Given the description of an element on the screen output the (x, y) to click on. 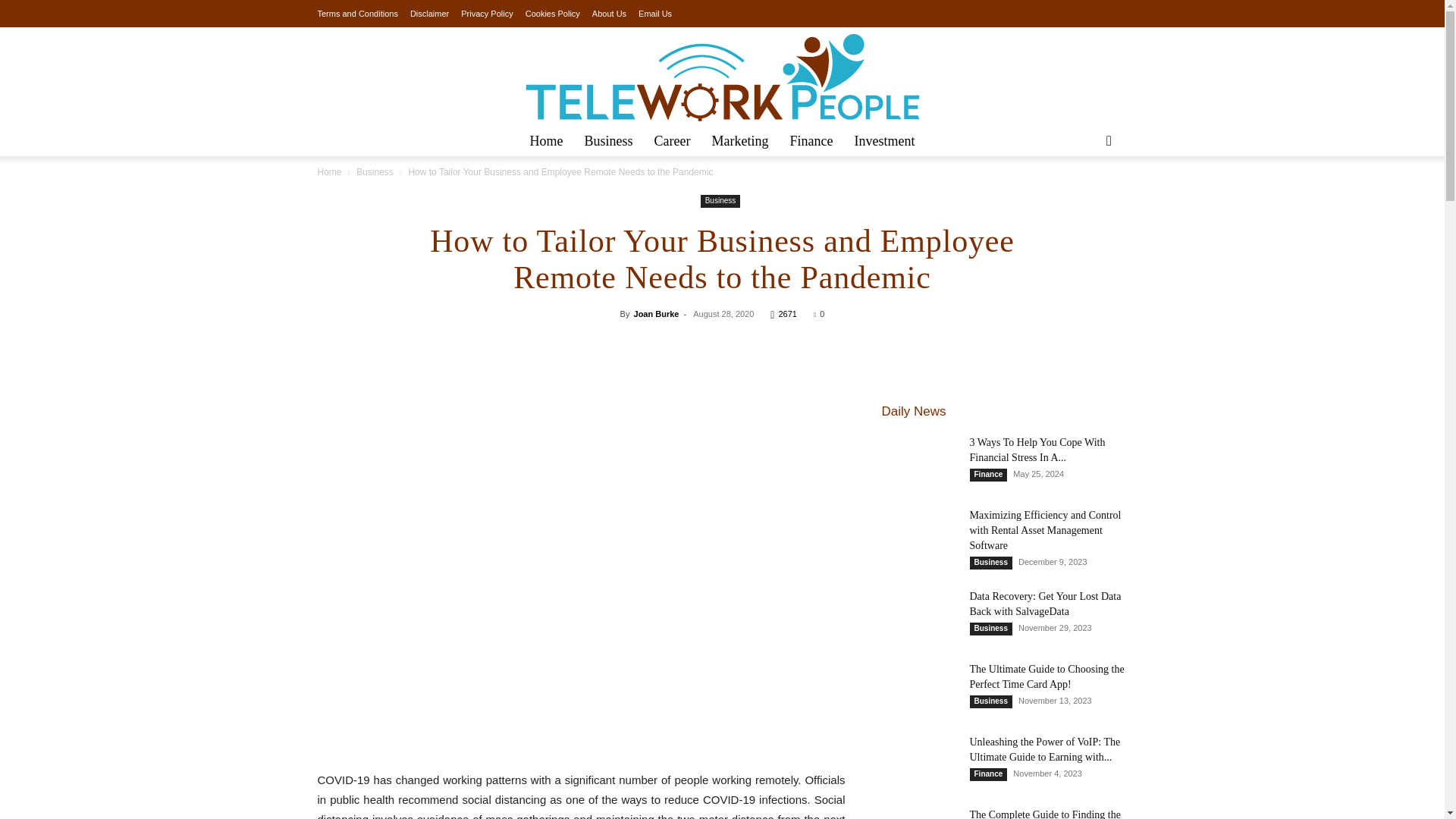
Terms and Conditions (357, 13)
View all posts in Business (374, 172)
Investment (883, 141)
0 (818, 313)
Email Us (655, 13)
Home (328, 172)
Finance (811, 141)
Disclaimer (429, 13)
Joan Burke (656, 313)
Business (720, 201)
Business (608, 141)
Privacy Policy (486, 13)
Business (374, 172)
Marketing (739, 141)
About Us (609, 13)
